Given the description of an element on the screen output the (x, y) to click on. 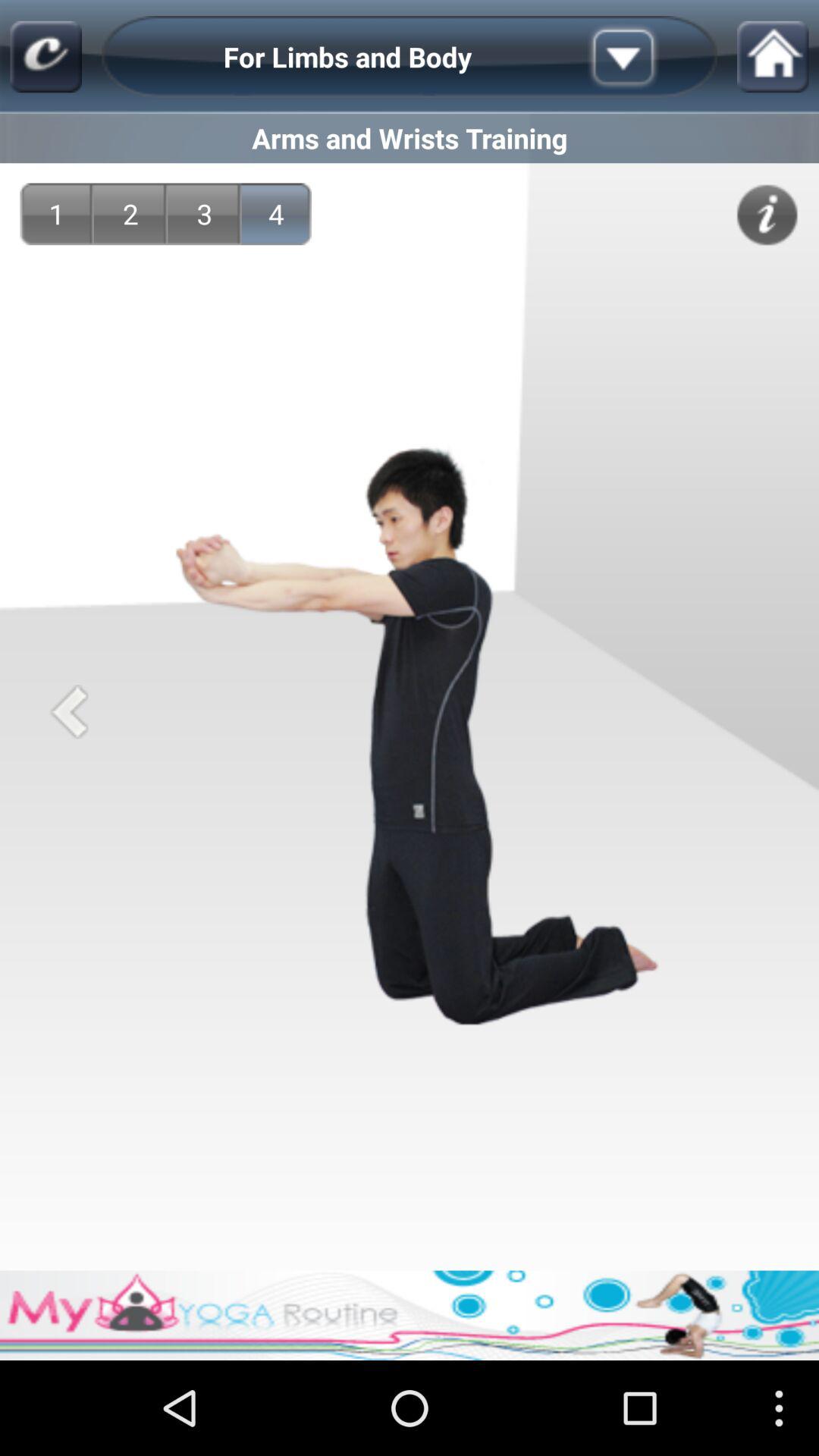
turn on the item to the left of for limbs and item (45, 56)
